Given the description of an element on the screen output the (x, y) to click on. 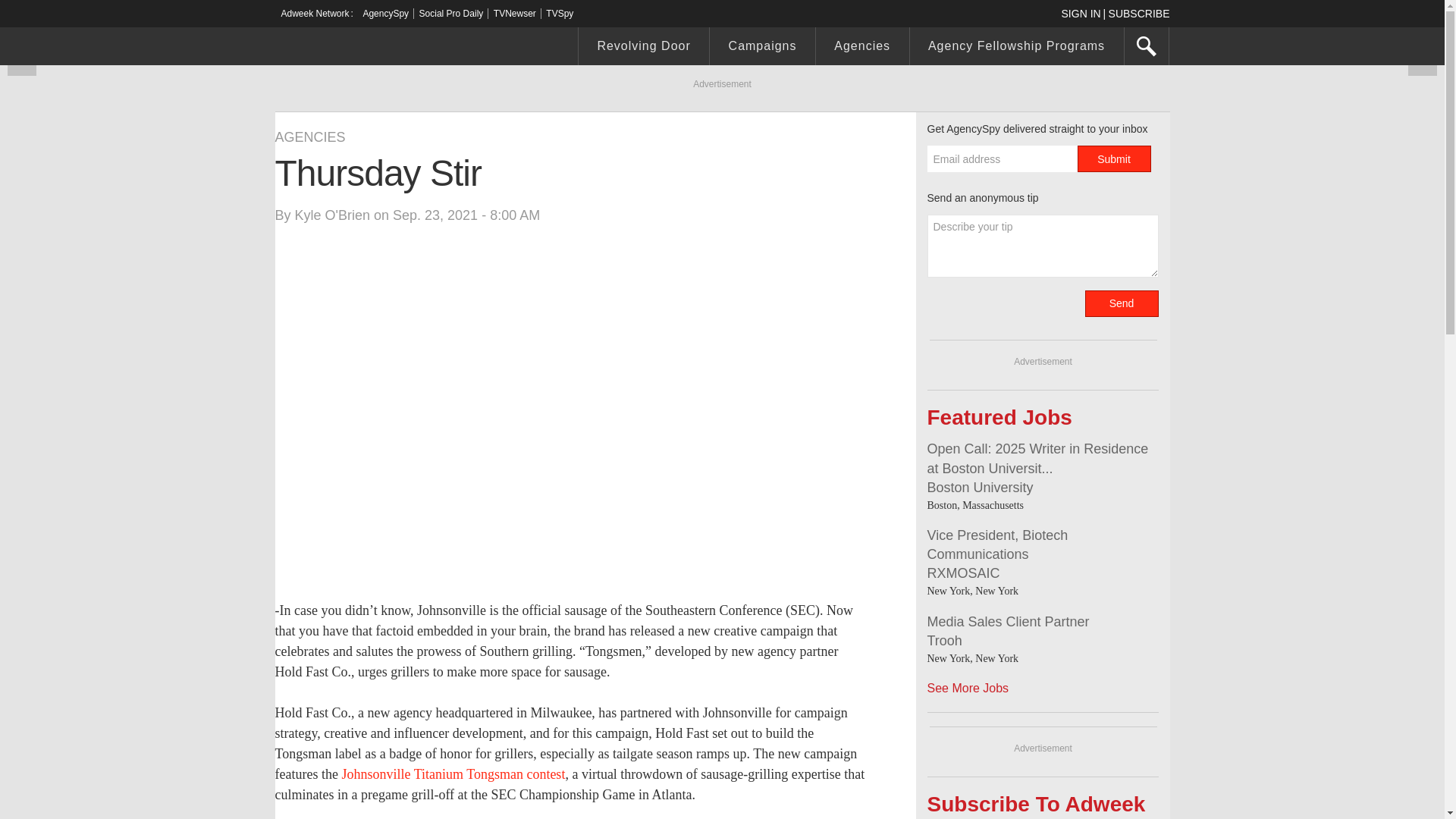
Covering the ad agency world (388, 47)
Agencies (861, 48)
AgencySpy (385, 13)
Agency Fellowship Programs (1017, 48)
Submit (1113, 158)
Revolving Door (643, 48)
SIGN IN (1083, 13)
Campaigns (762, 48)
Adweek Network (316, 13)
